Given the description of an element on the screen output the (x, y) to click on. 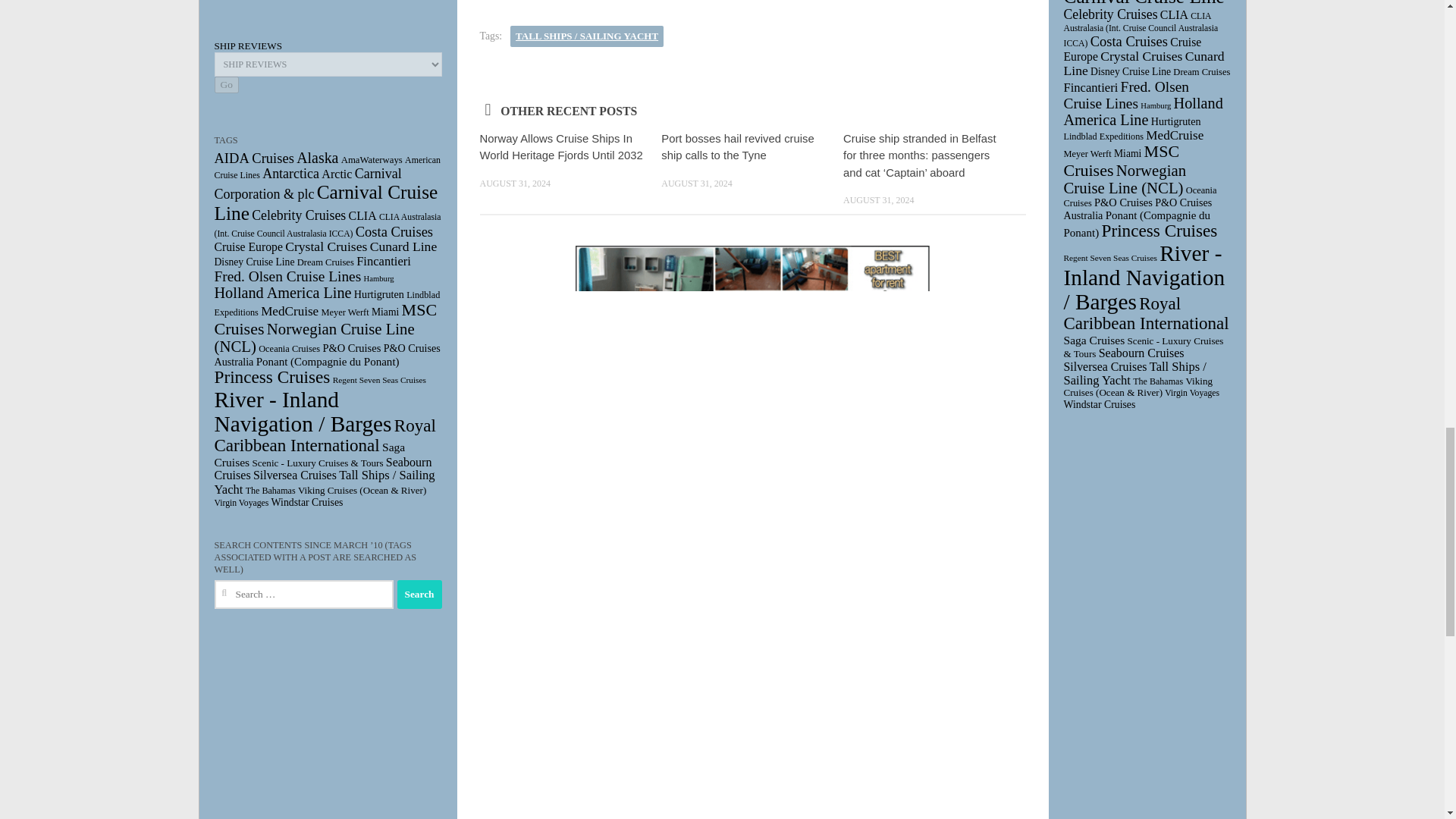
Port bosses hail revived cruise ship calls to the Tyne (737, 146)
Go (226, 84)
Search (419, 594)
Search (419, 594)
